Given the description of an element on the screen output the (x, y) to click on. 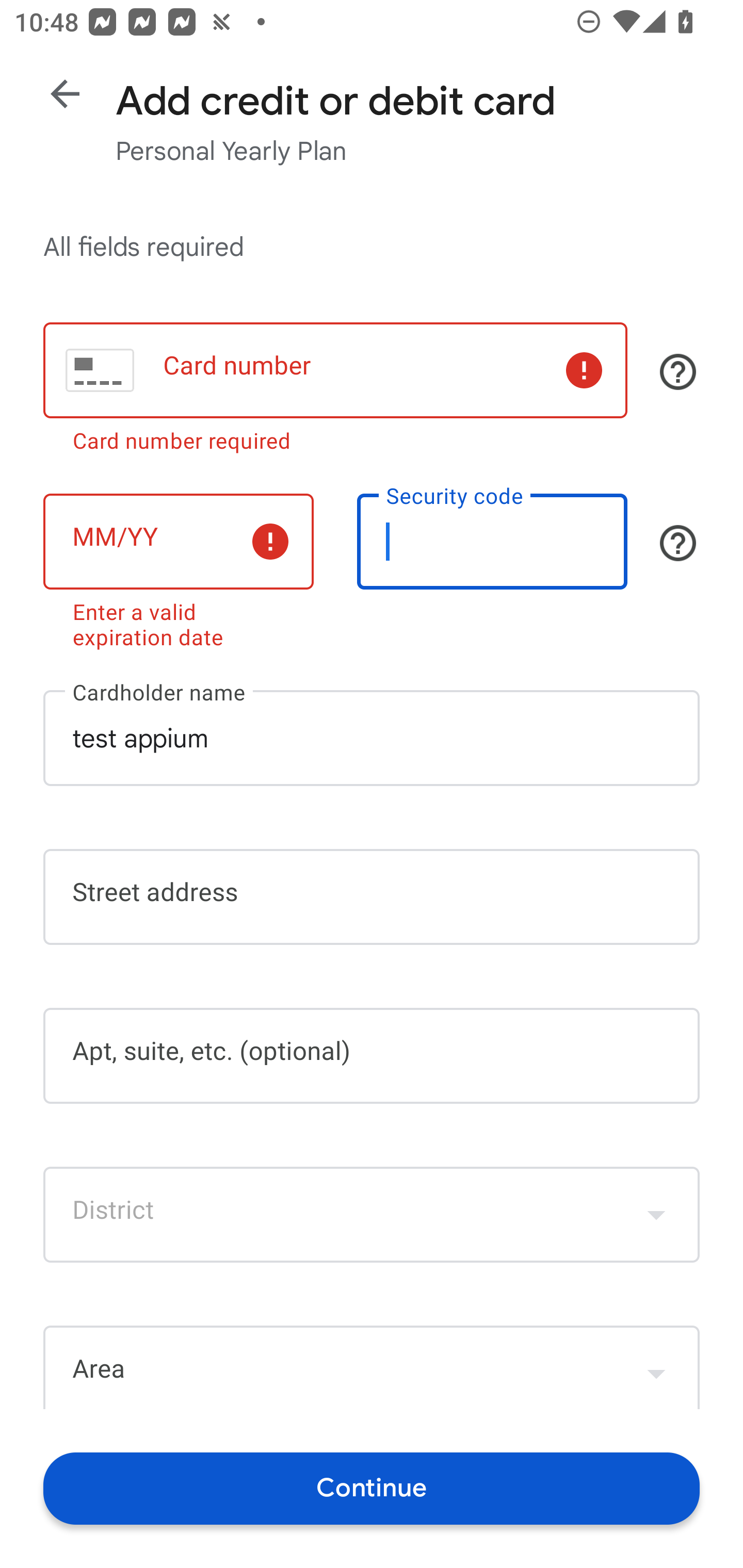
Back (64, 93)
Card number (335, 370)
Button, shows cards that are accepted for payment (677, 371)
Expiration date, 2 digit month, 2 digit year (178, 541)
Security code (492, 541)
Security code help (677, 543)
test appium (371, 737)
Street address (371, 896)
Apt, suite, etc. (optional) (371, 1055)
District (371, 1214)
Show dropdown menu (655, 1214)
Area (371, 1366)
Show dropdown menu (655, 1369)
Continue (371, 1487)
